Given the description of an element on the screen output the (x, y) to click on. 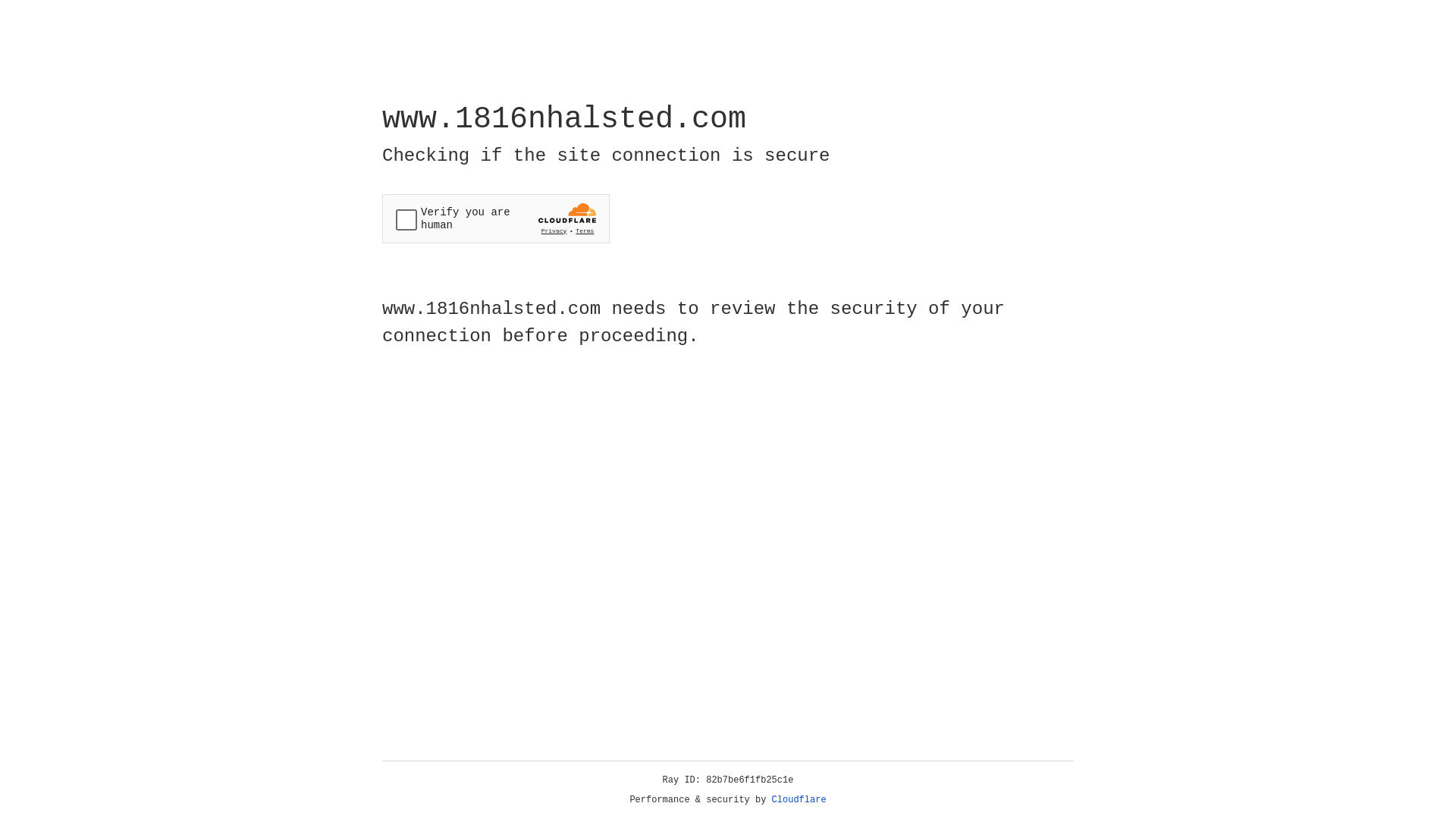
Cloudflare Element type: text (798, 799)
Widget containing a Cloudflare security challenge Element type: hover (495, 218)
